Given the description of an element on the screen output the (x, y) to click on. 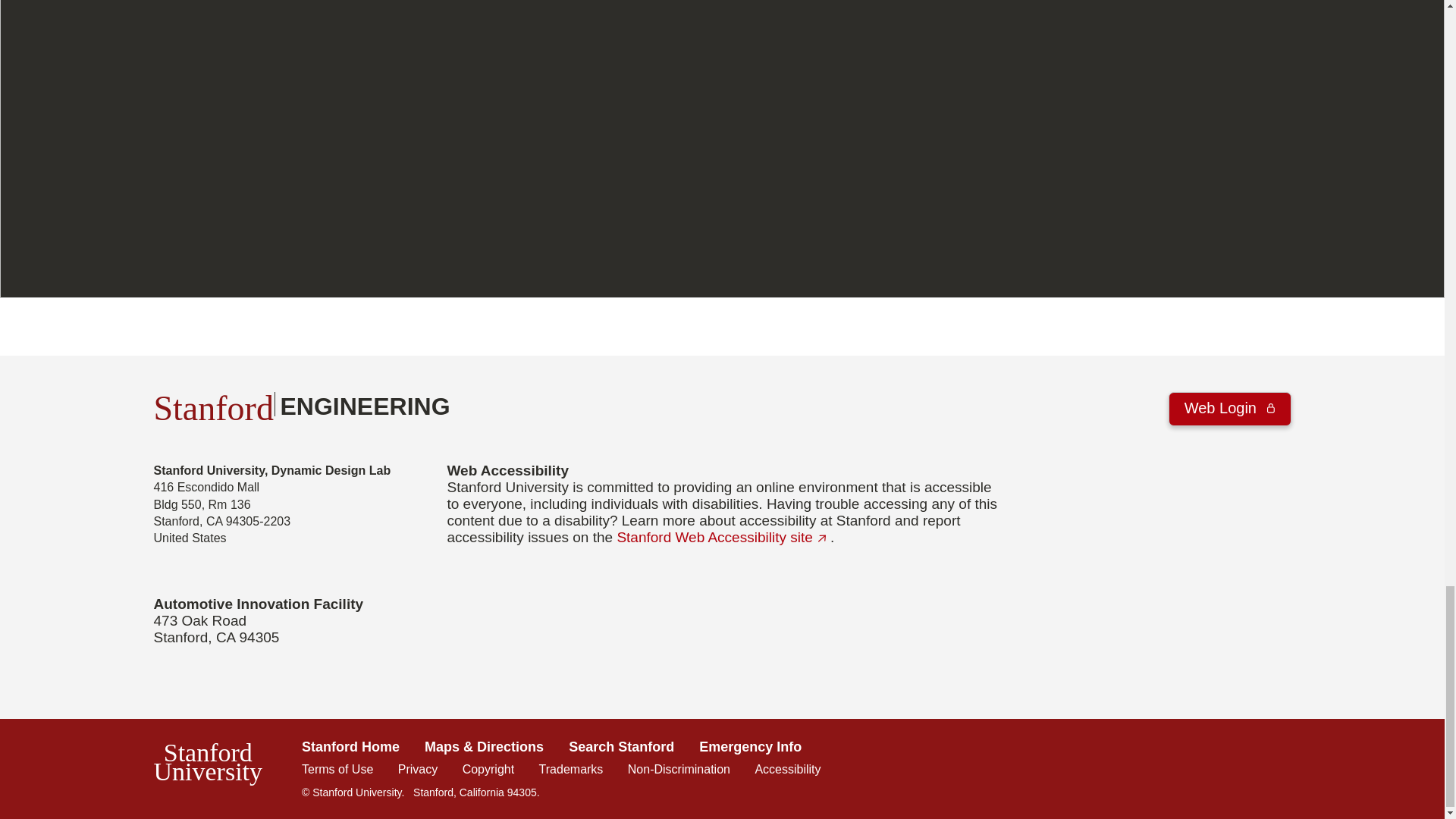
Non-discrimination policy (300, 404)
Report alleged copyright infringement (678, 768)
Privacy and cookie policy (488, 768)
Report web accessibility issues (417, 768)
Stanford Web Accessibility site (787, 768)
Web Login (722, 537)
Ownership and use of Stanford trademarks and images (1230, 408)
Terms of use for sites (571, 768)
